Given the description of an element on the screen output the (x, y) to click on. 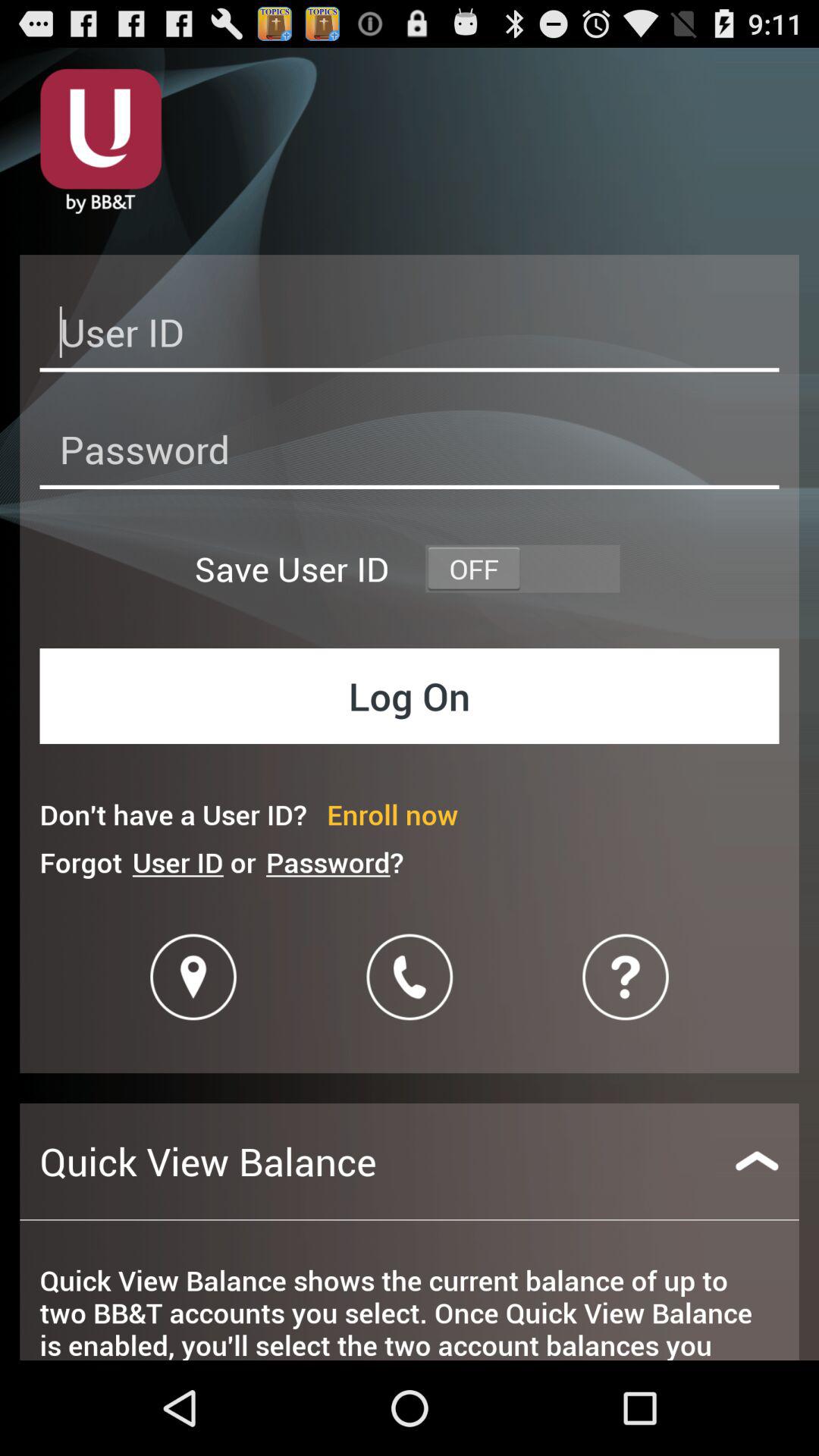
enter password (409, 454)
